Given the description of an element on the screen output the (x, y) to click on. 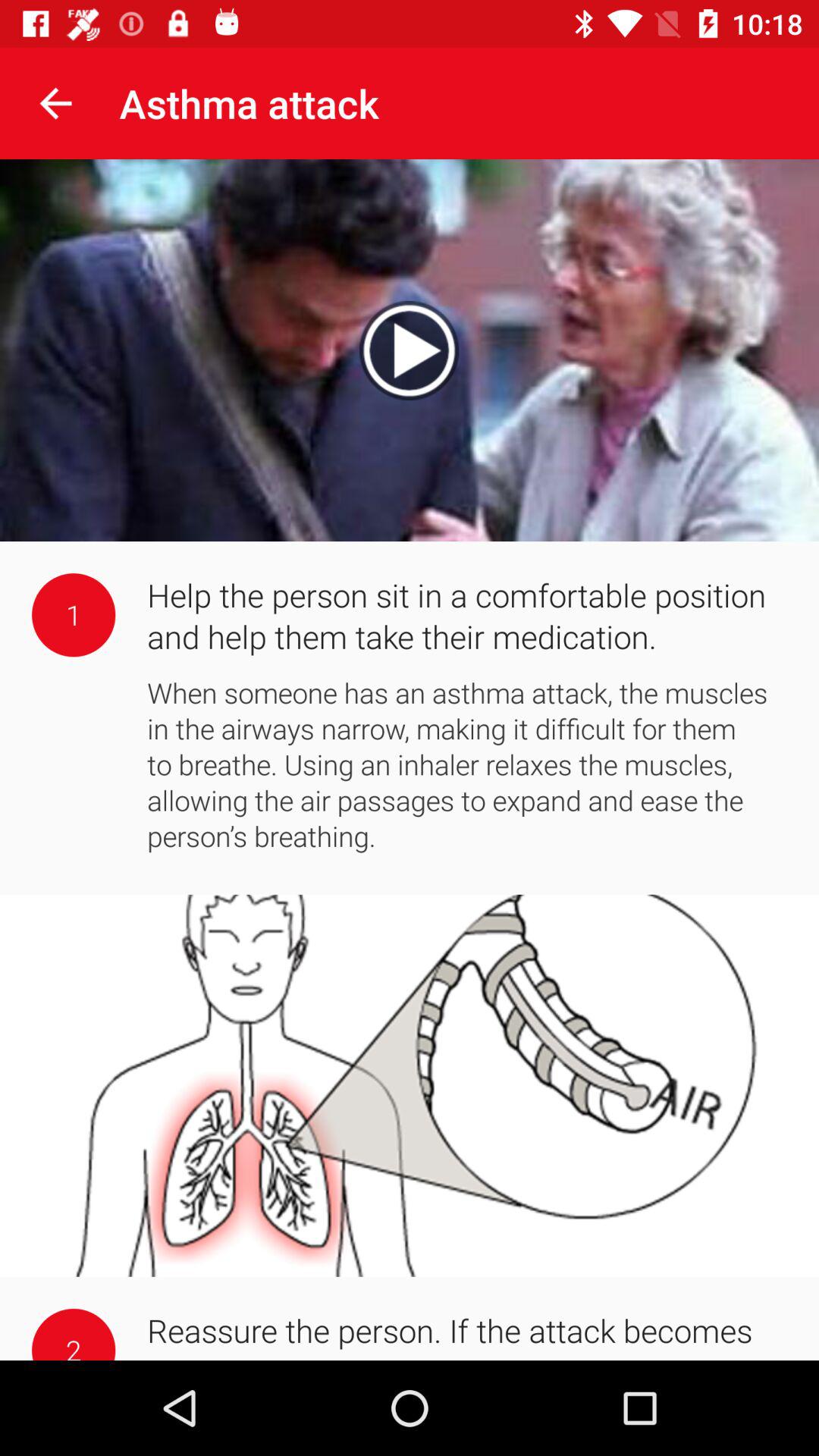
launch the item to the left of the asthma attack app (55, 103)
